Given the description of an element on the screen output the (x, y) to click on. 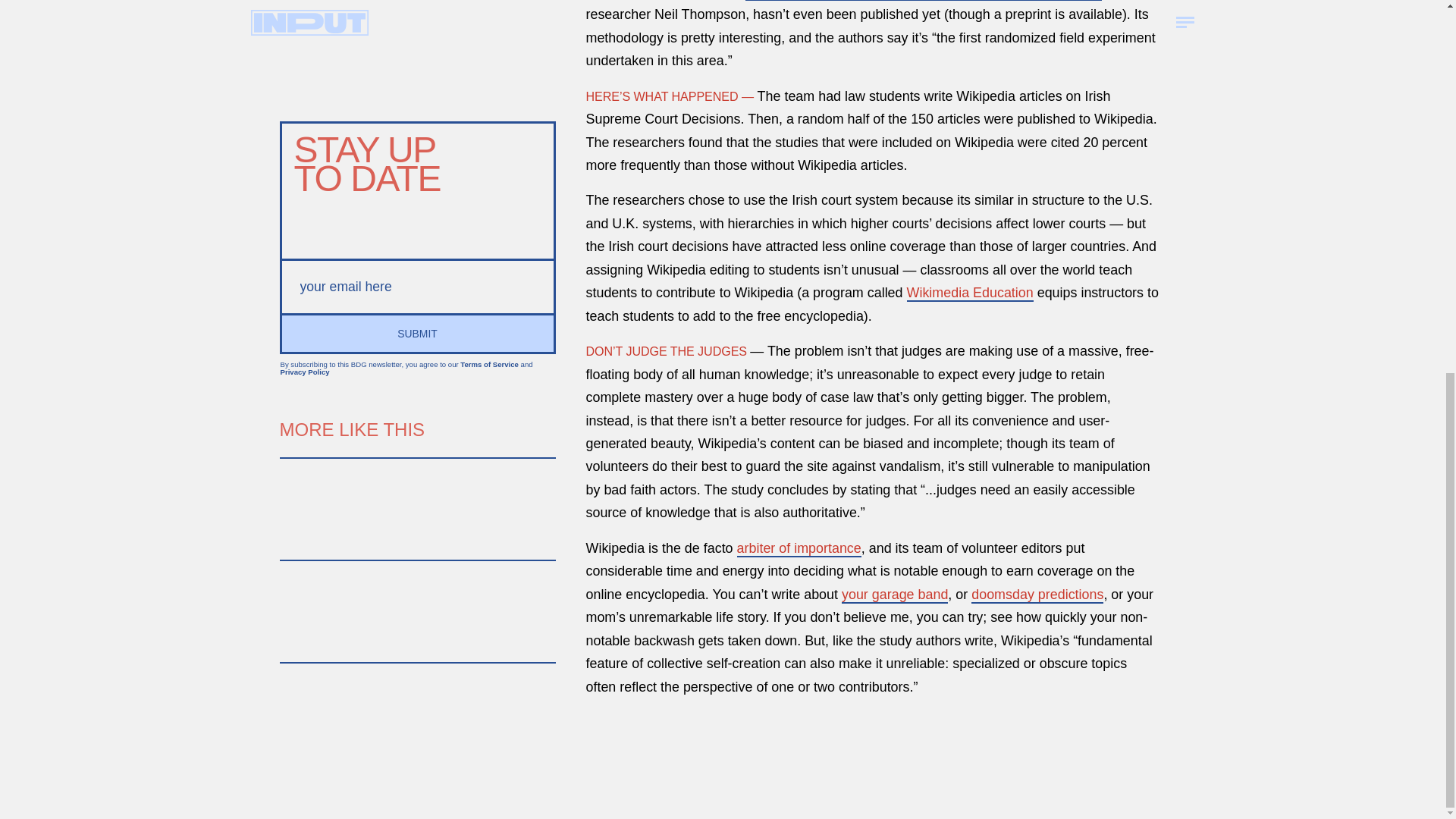
Wikimedia Education (970, 293)
doomsday predictions (1037, 595)
your garage band (894, 595)
arbiter of importance (798, 548)
SUBMIT (417, 332)
Privacy Policy (305, 371)
Terms of Service (489, 364)
